Given the description of an element on the screen output the (x, y) to click on. 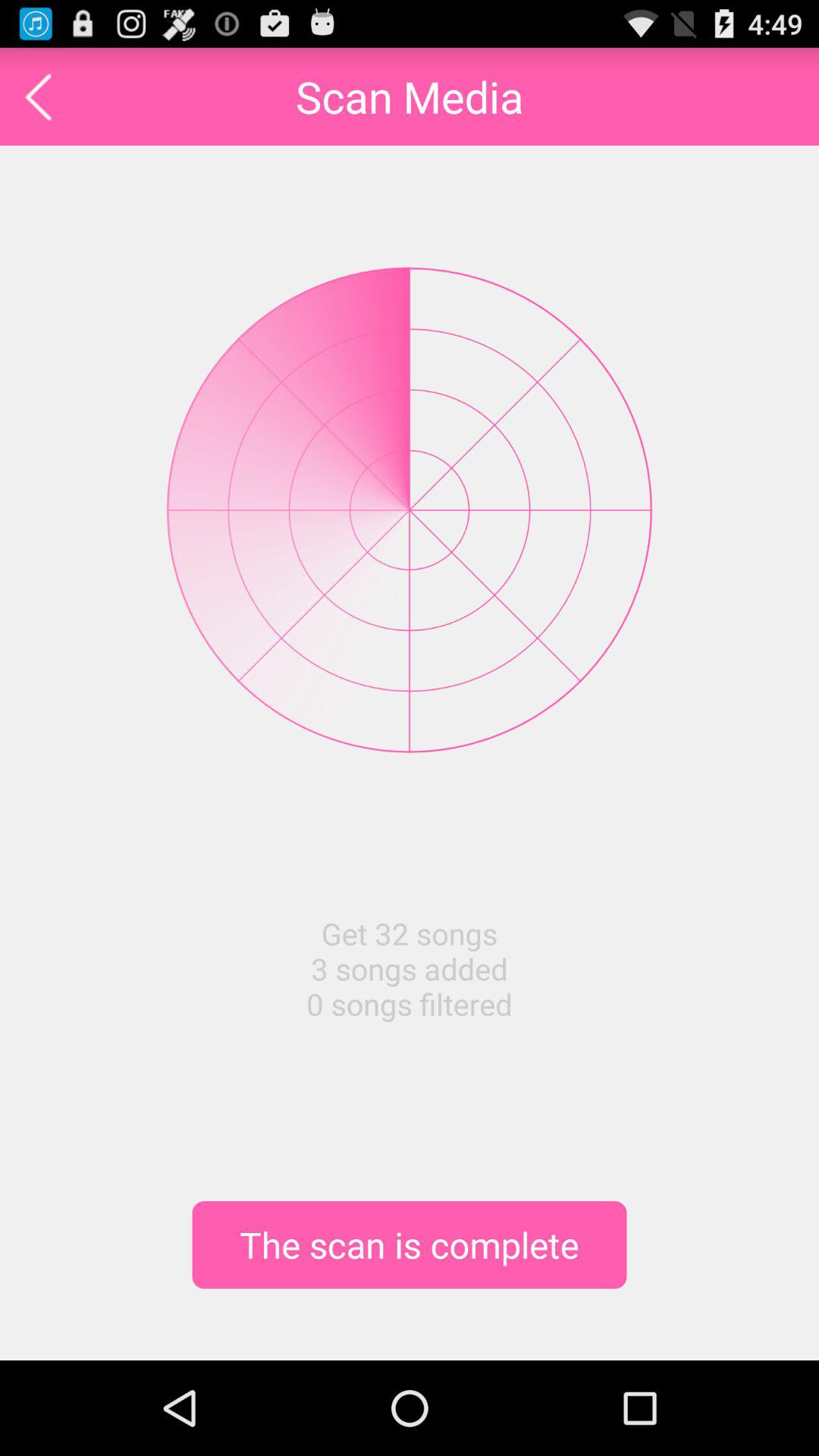
select app below get 32 songs (409, 1244)
